Given the description of an element on the screen output the (x, y) to click on. 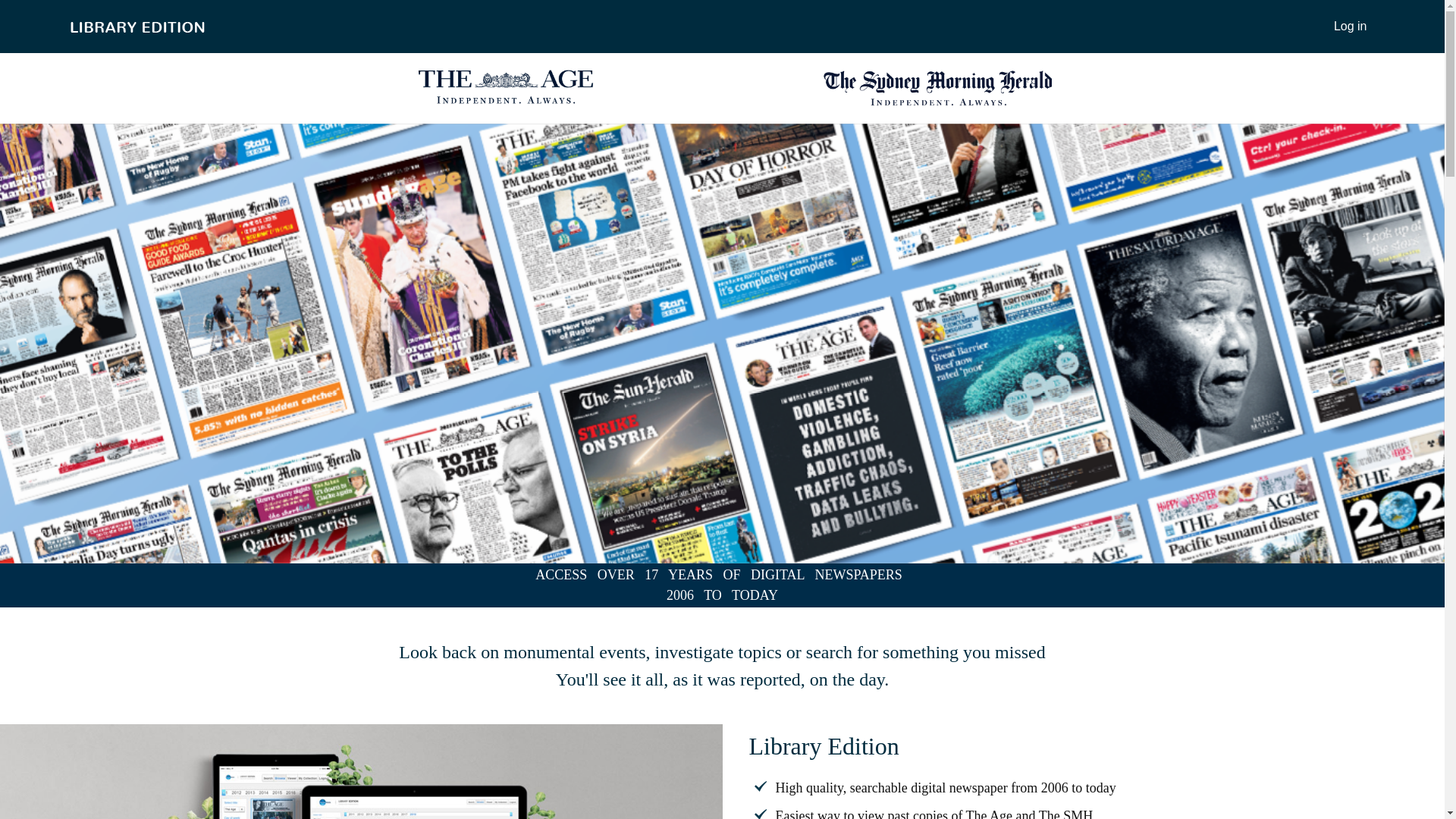
Log in Element type: text (1350, 26)
